Given the description of an element on the screen output the (x, y) to click on. 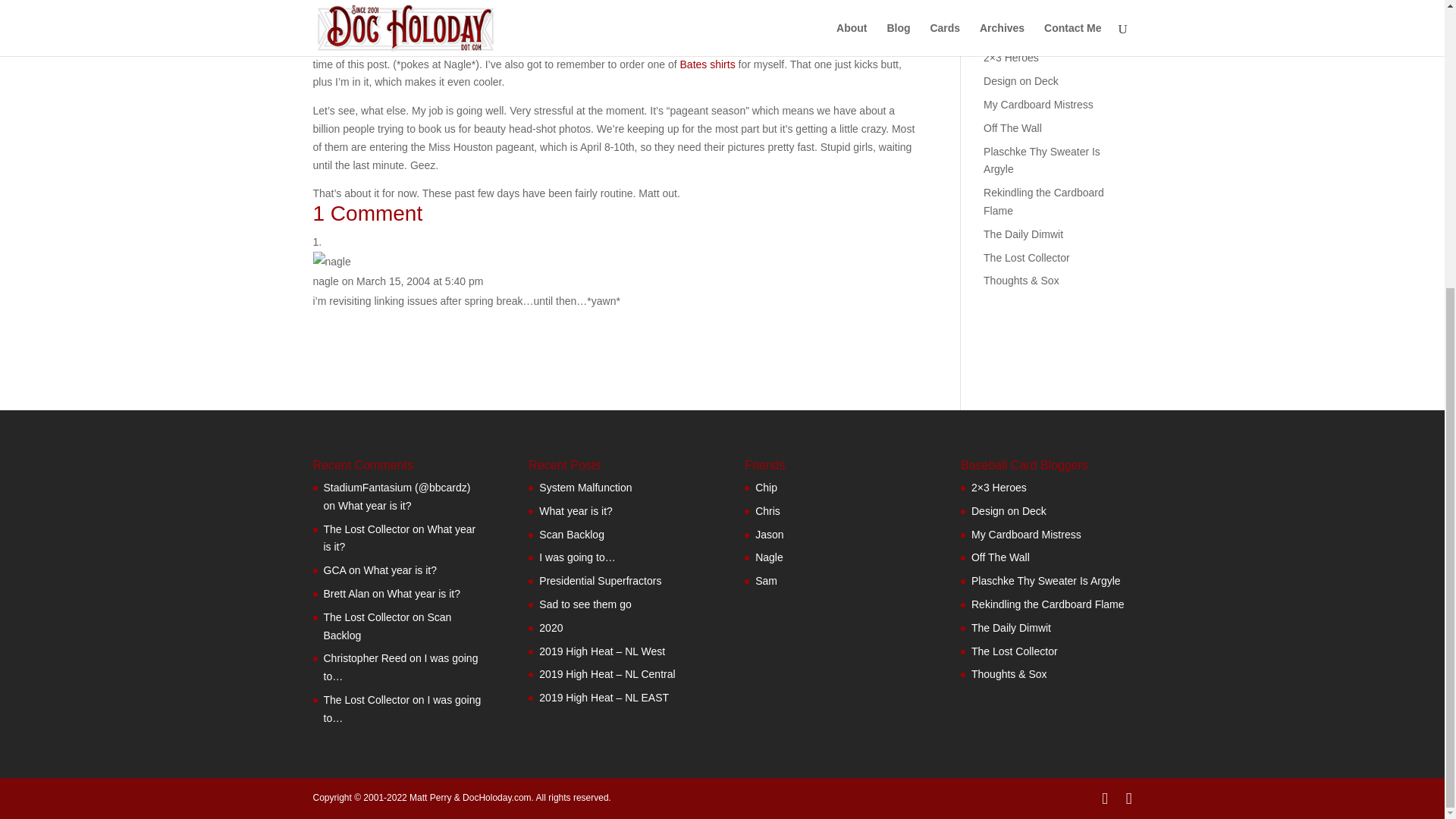
Rekindling the Cardboard Flame (1043, 201)
Bates shirts (707, 64)
The Daily Dimwit (766, 580)
Off The Wall (1013, 128)
OffBrand (400, 9)
The Daily Dimwit (1023, 234)
Design on Deck (1021, 80)
My Cardboard Mistress (1038, 104)
Scan Backlog (1048, 2)
The Lost Collector (1027, 257)
